Given the description of an element on the screen output the (x, y) to click on. 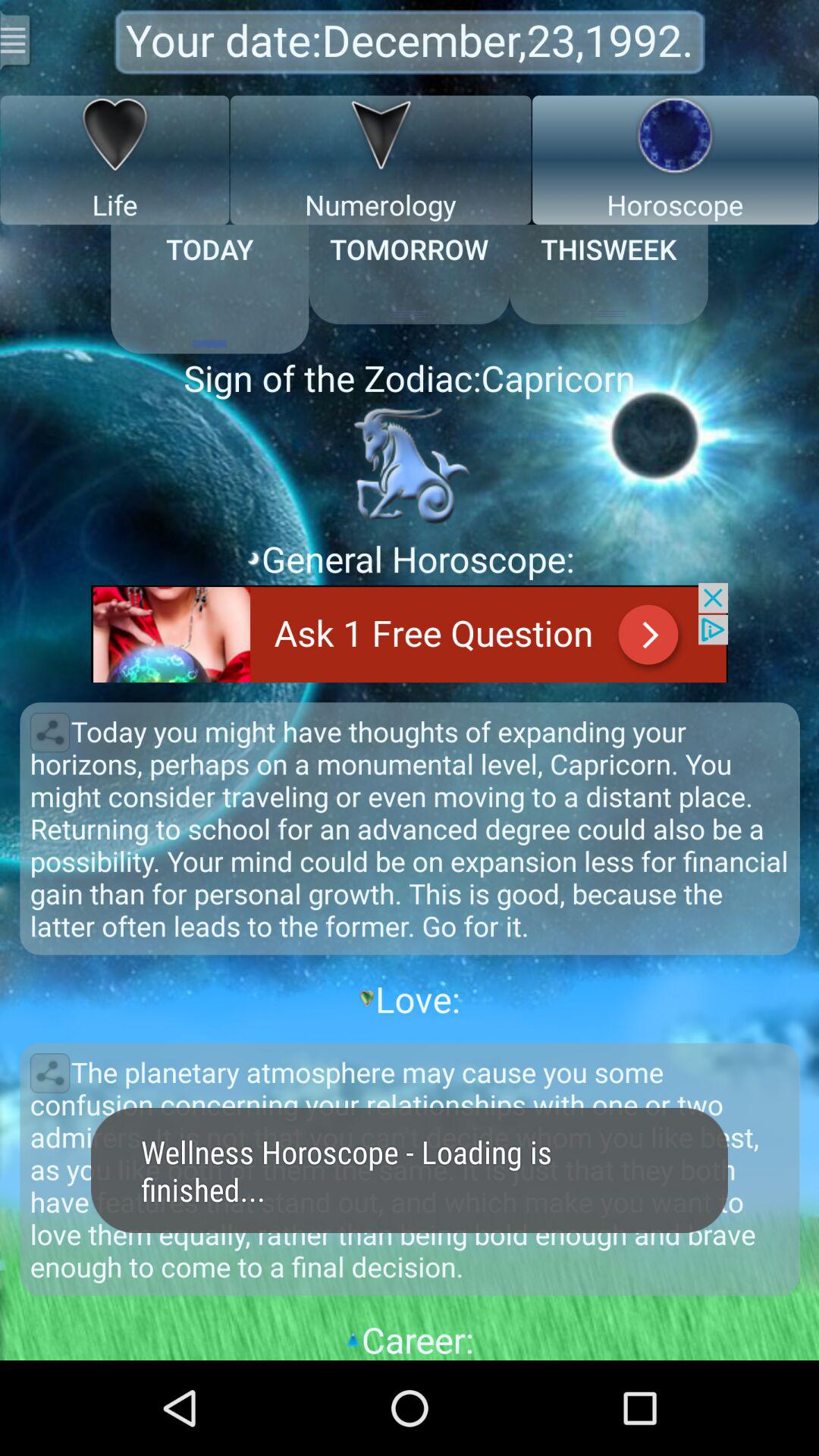
settings option (17, 39)
